Given the description of an element on the screen output the (x, y) to click on. 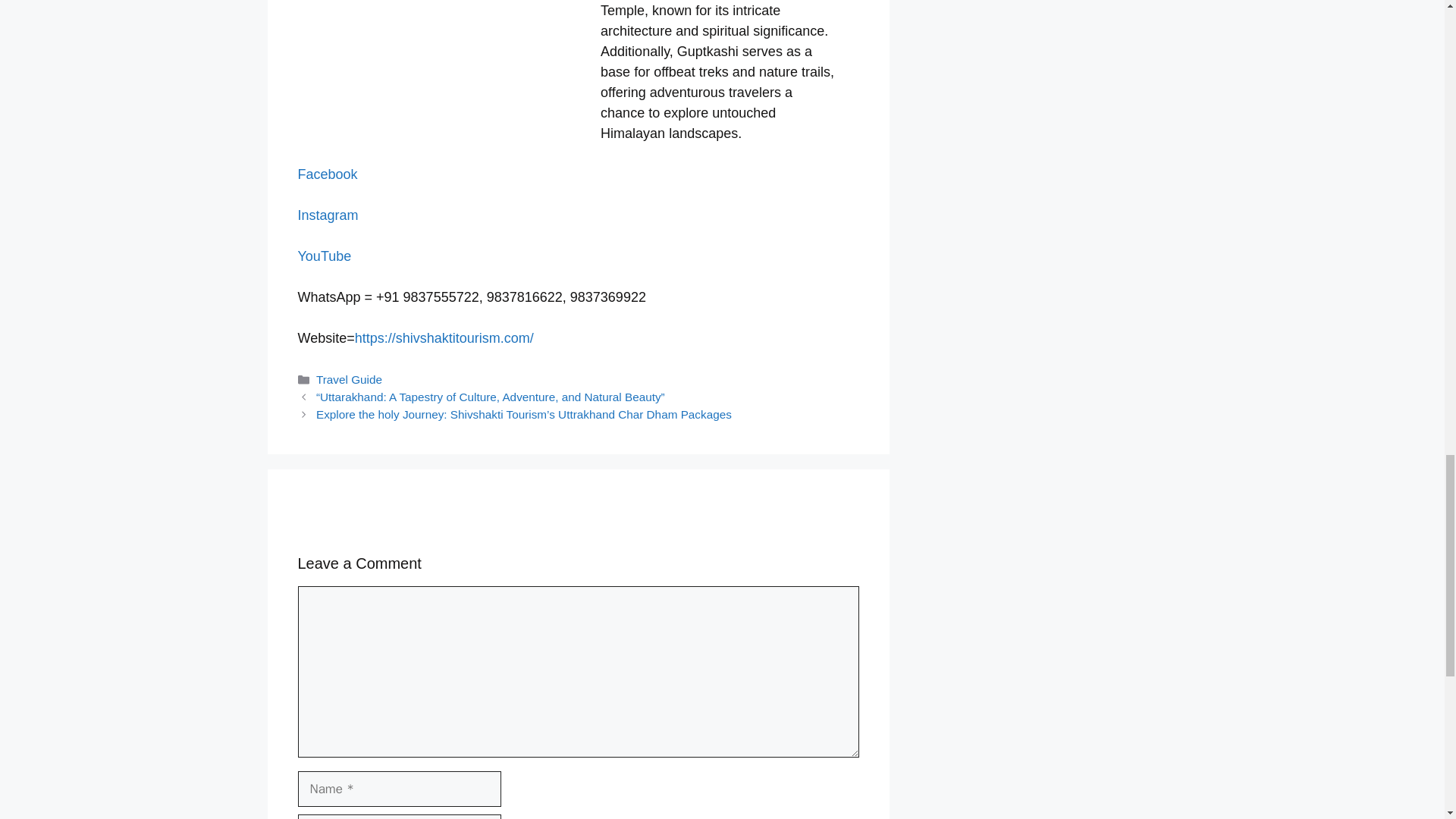
Facebook (326, 174)
YouTube (323, 255)
Travel Guide (348, 379)
Instagram (327, 215)
